Given the description of an element on the screen output the (x, y) to click on. 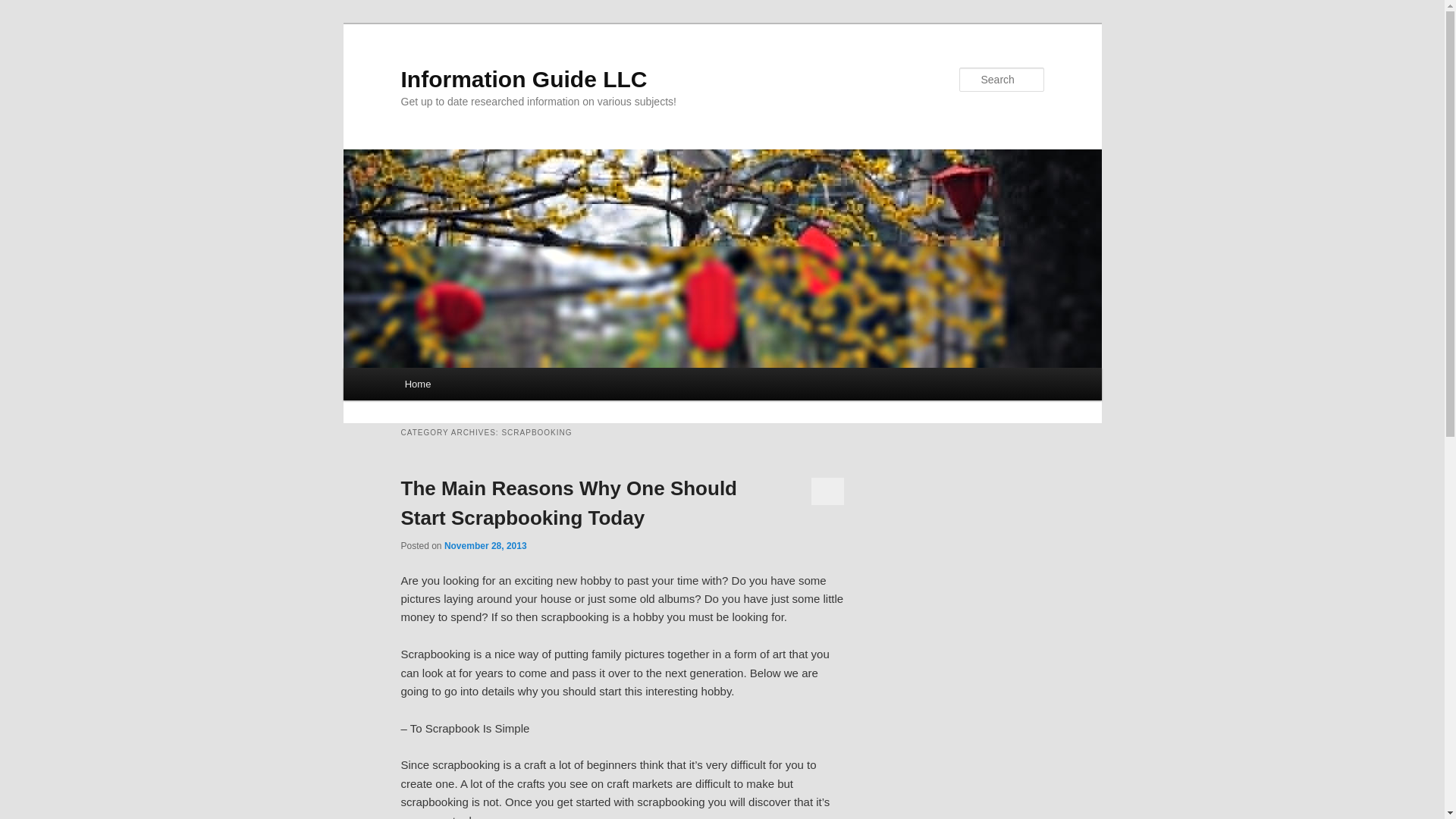
The Main Reasons Why One Should Start Scrapbooking Today (568, 502)
November 28, 2013 (485, 545)
Skip to primary content (472, 386)
Skip to secondary content (479, 386)
Home (417, 383)
Skip to primary content (472, 386)
Information Guide LLC (523, 78)
Search (24, 8)
2:47 pm (485, 545)
